Given the description of an element on the screen output the (x, y) to click on. 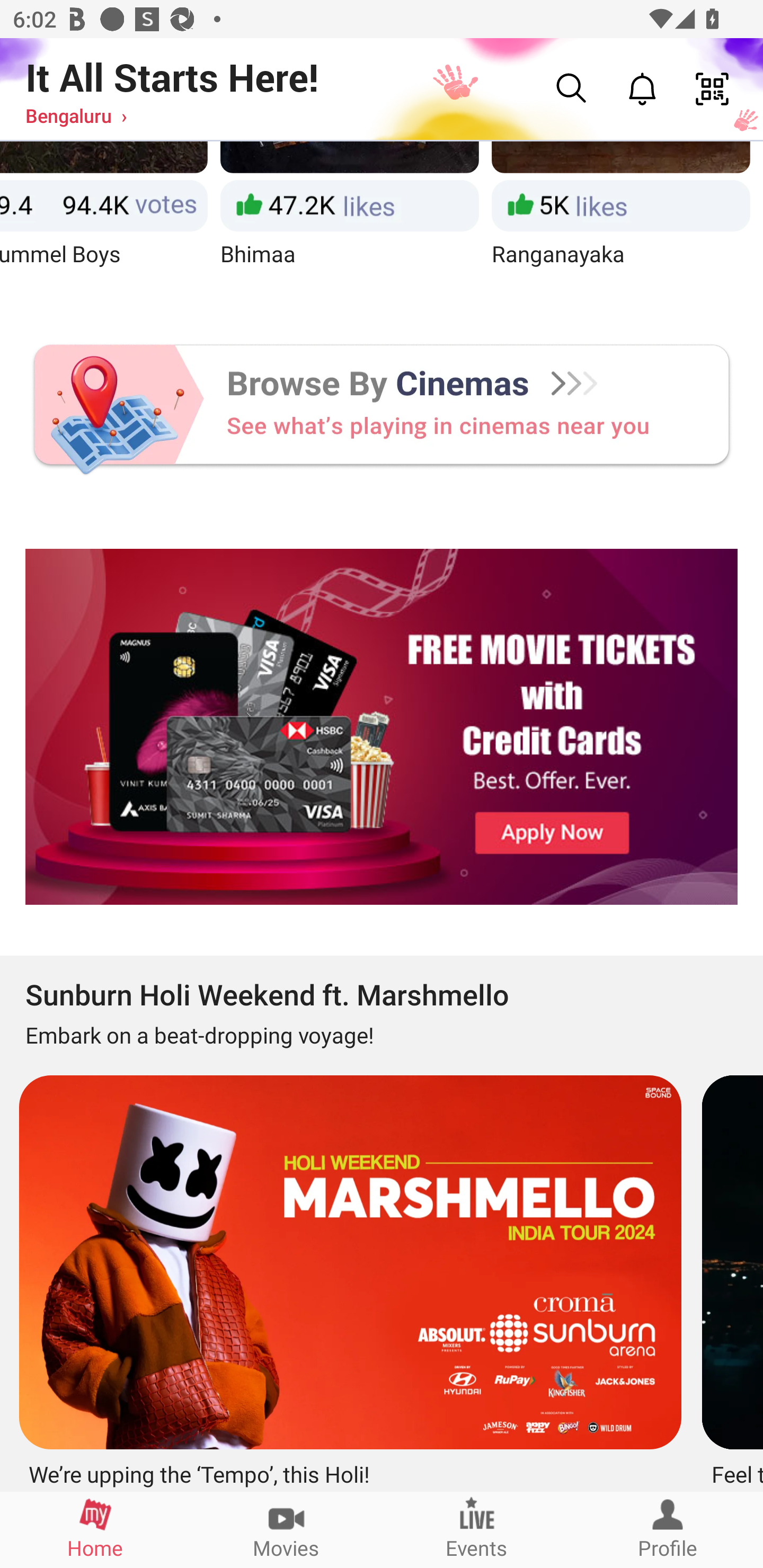
Bengaluru  › (76, 114)
Manjummel Boys (103, 221)
Bhimaa (349, 221)
Ranganayaka (620, 221)
We’re upping the ‘Tempo’, this Holi!  (347, 1277)
Home (95, 1529)
Movies (285, 1529)
Events (476, 1529)
Profile (667, 1529)
